Given the description of an element on the screen output the (x, y) to click on. 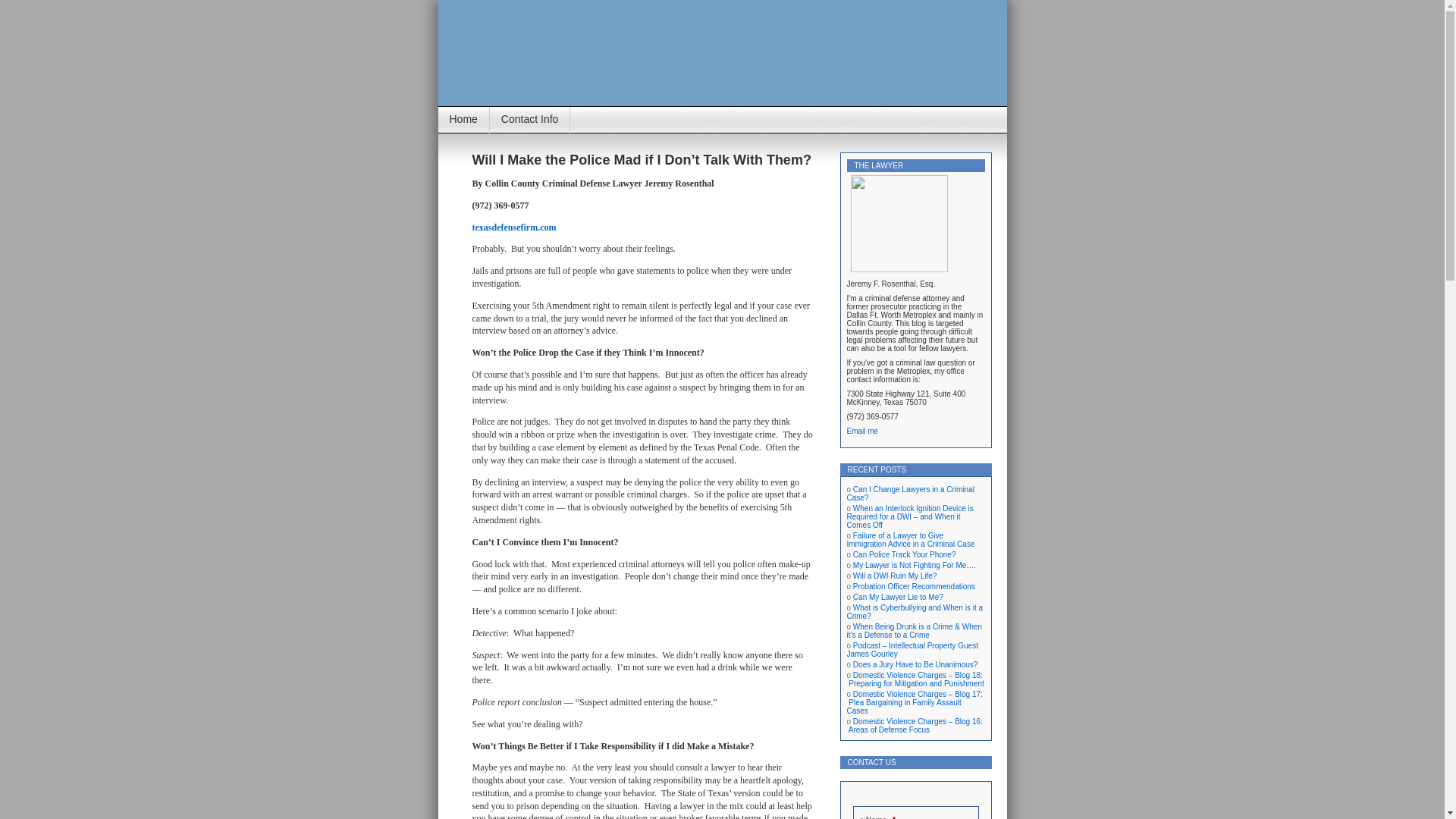
Contact Info (529, 120)
Can Police Track Your Phone? (904, 554)
Can My Lawyer Lie to Me? (898, 596)
Probation Officer Recommendations (914, 586)
Will a DWI Ruin My Life? (895, 575)
Email me (861, 430)
What is Cyberbullying and When is it a Crime? (913, 611)
texasdefensefirm.com (513, 226)
Home (463, 120)
Does a Jury Have to Be Unanimous? (915, 664)
Can I Change Lawyers in a Criminal Case? (909, 493)
